Given the description of an element on the screen output the (x, y) to click on. 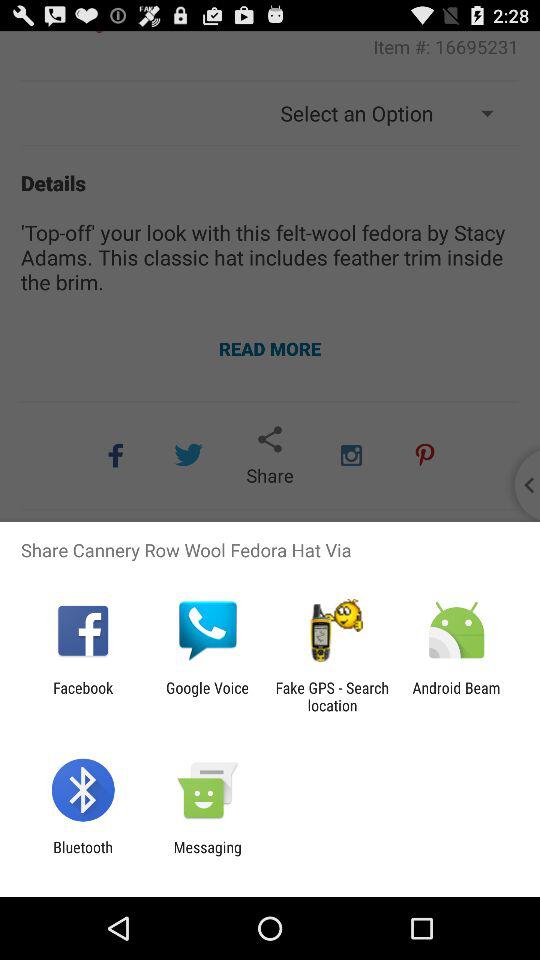
turn off item to the right of the google voice (332, 696)
